Given the description of an element on the screen output the (x, y) to click on. 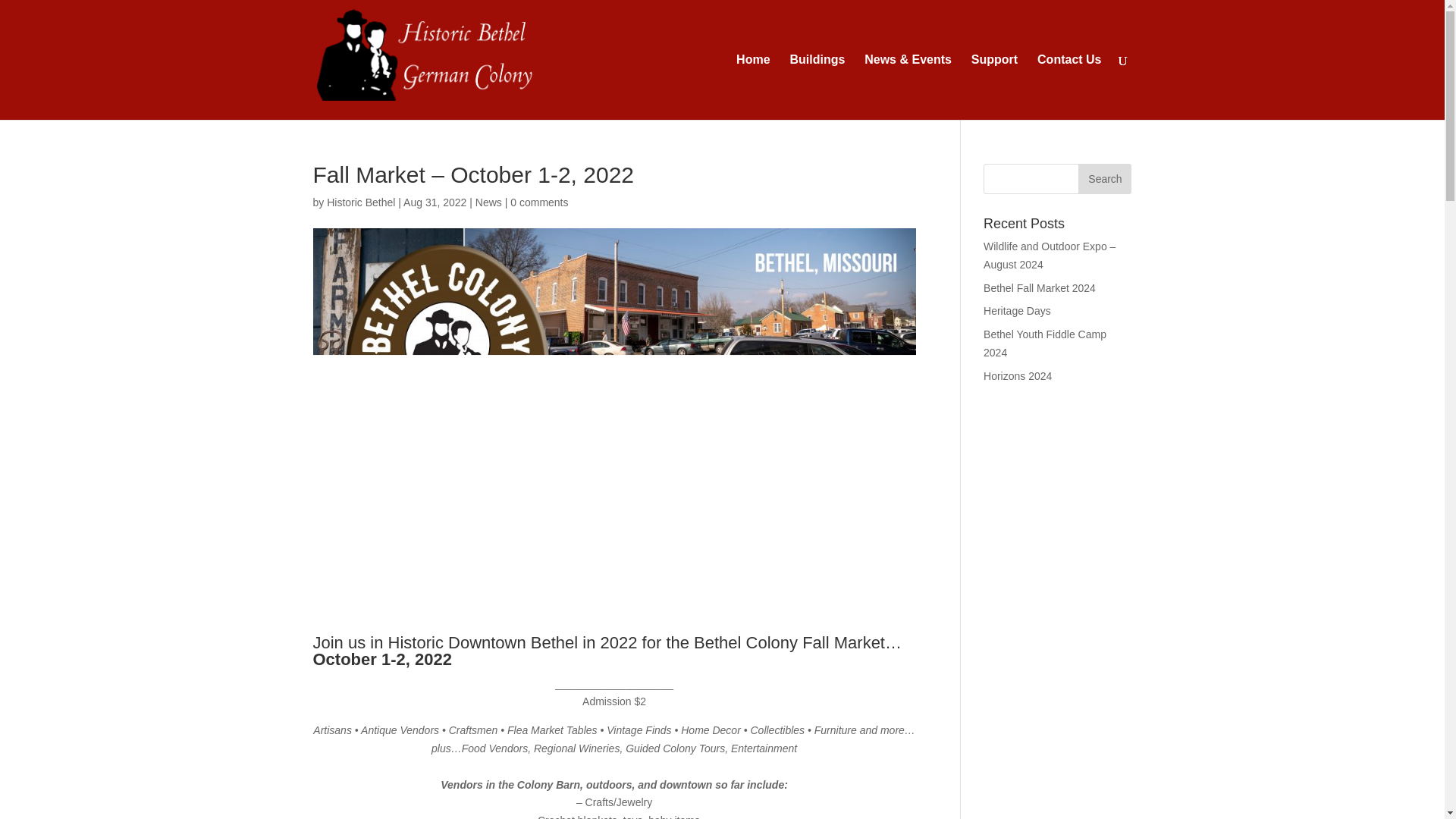
News (489, 202)
Posts by Historic Bethel (360, 202)
Search (1104, 178)
Bethel Fall Market 2024 (1040, 287)
Search (1104, 178)
Contact Us (1068, 86)
Horizons 2024 (1017, 376)
Bethel Youth Fiddle Camp 2024 (1045, 343)
Heritage Days (1017, 310)
Historic Bethel (360, 202)
